Given the description of an element on the screen output the (x, y) to click on. 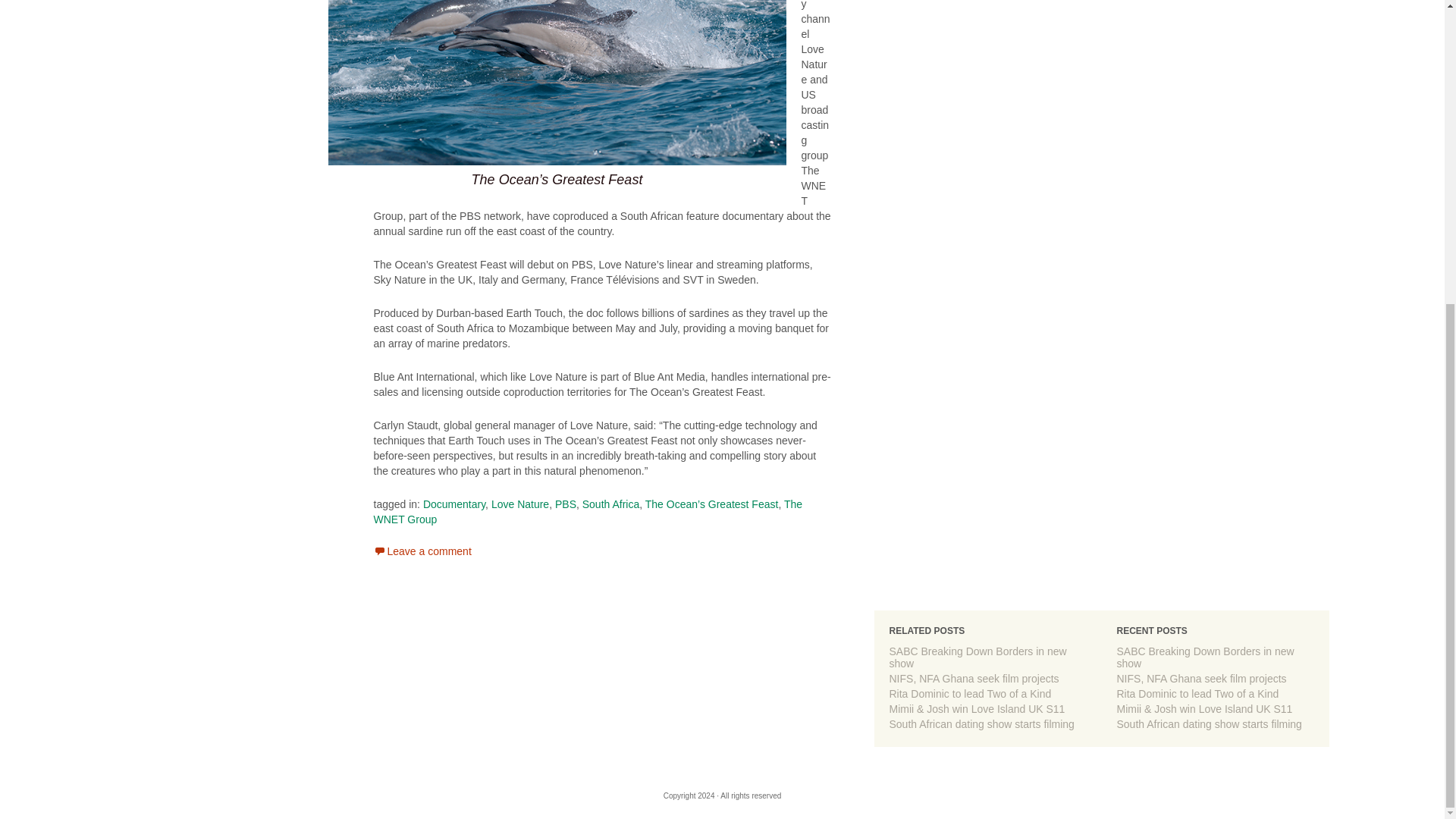
PBS (565, 503)
Rita Dominic to lead Two of a Kind (969, 693)
SABC Breaking Down Borders in new show (1205, 657)
SABC Breaking Down Borders in new show (976, 657)
NIFS, NFA Ghana seek film projects (973, 678)
Love Nature (520, 503)
South African dating show starts filming (981, 724)
The WNET Group (587, 511)
NIFS, NFA Ghana seek film projects (973, 678)
Rita Dominic to lead Two of a Kind (1197, 693)
